Given the description of an element on the screen output the (x, y) to click on. 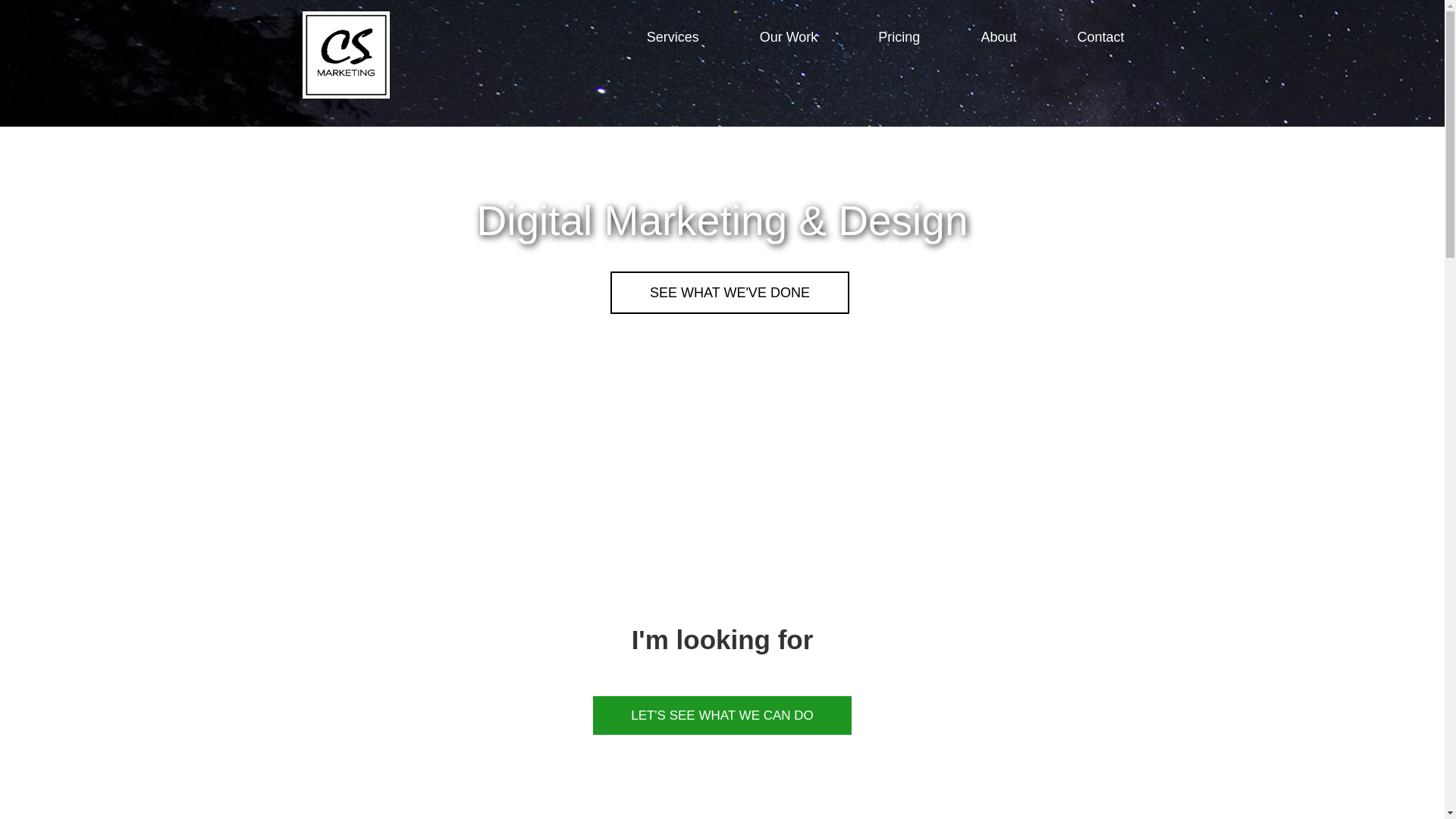
Our Work (788, 36)
LET'S SEE WHAT WE CAN DO (721, 715)
About (998, 36)
Pricing (899, 36)
Services (673, 36)
Contact (1100, 36)
SEE WHAT WE'VE DONE (729, 292)
